Given the description of an element on the screen output the (x, y) to click on. 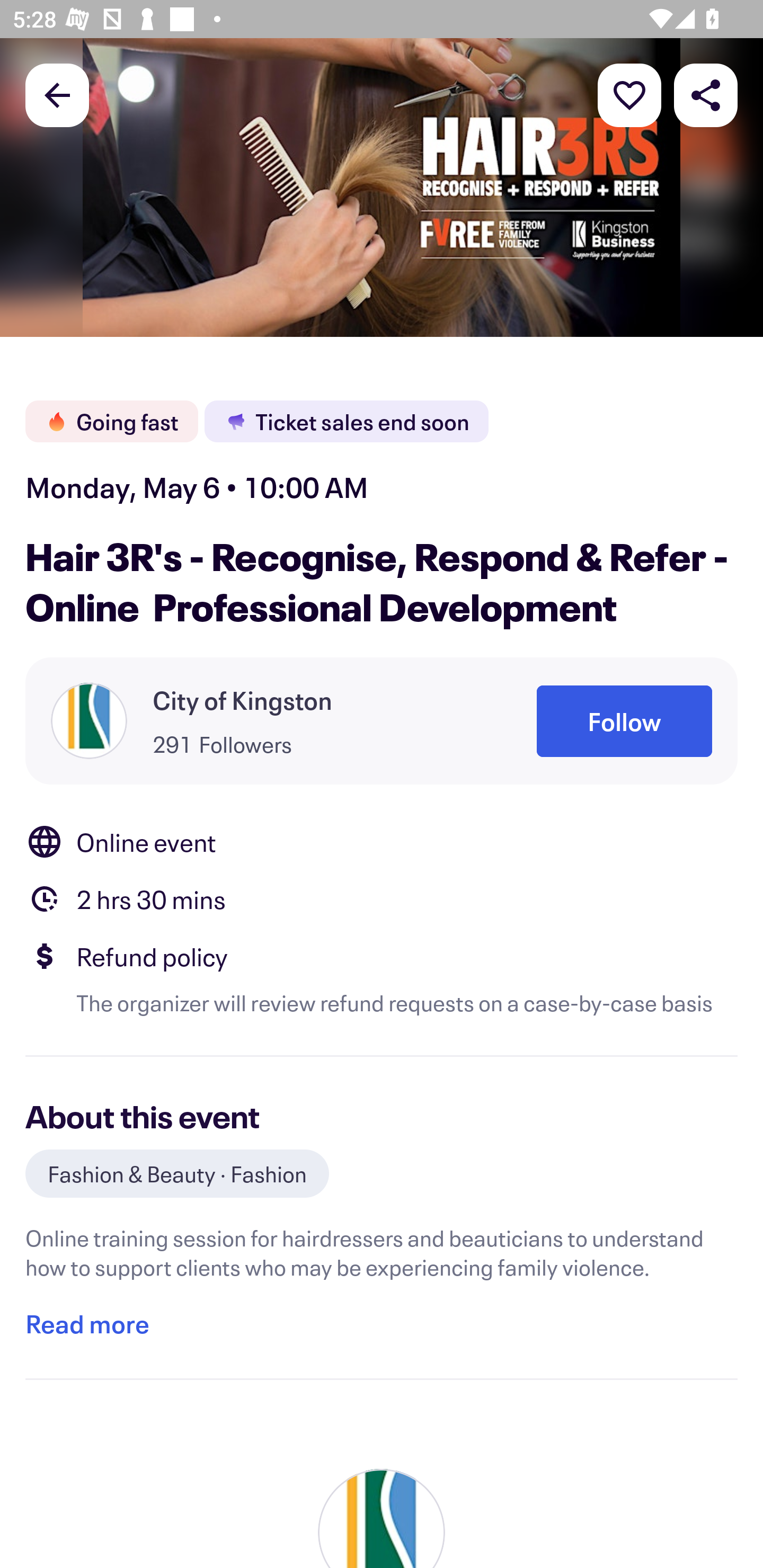
Back (57, 94)
More (629, 94)
Share (705, 94)
City of Kingston (242, 699)
Organizer profile picture (89, 720)
Follow (623, 720)
Location Online event (381, 840)
Read more (87, 1323)
Organizer profile picture (381, 1518)
